Given the description of an element on the screen output the (x, y) to click on. 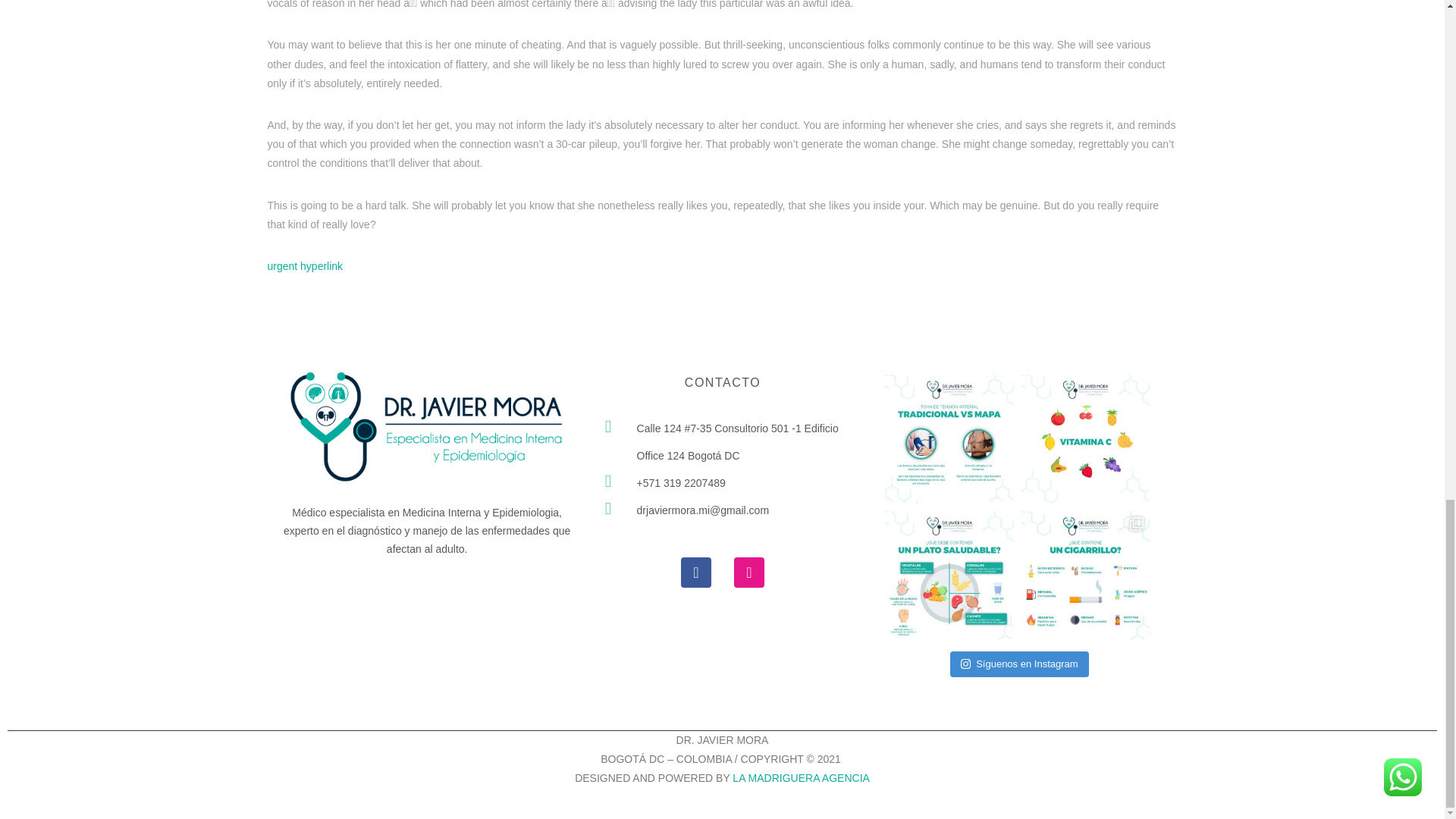
LA MADRIGUERA AGENCIA (800, 777)
Por estas razones no debe fumar: El cigarrillo tie (1086, 575)
urgent hyperlink (304, 265)
